Given the description of an element on the screen output the (x, y) to click on. 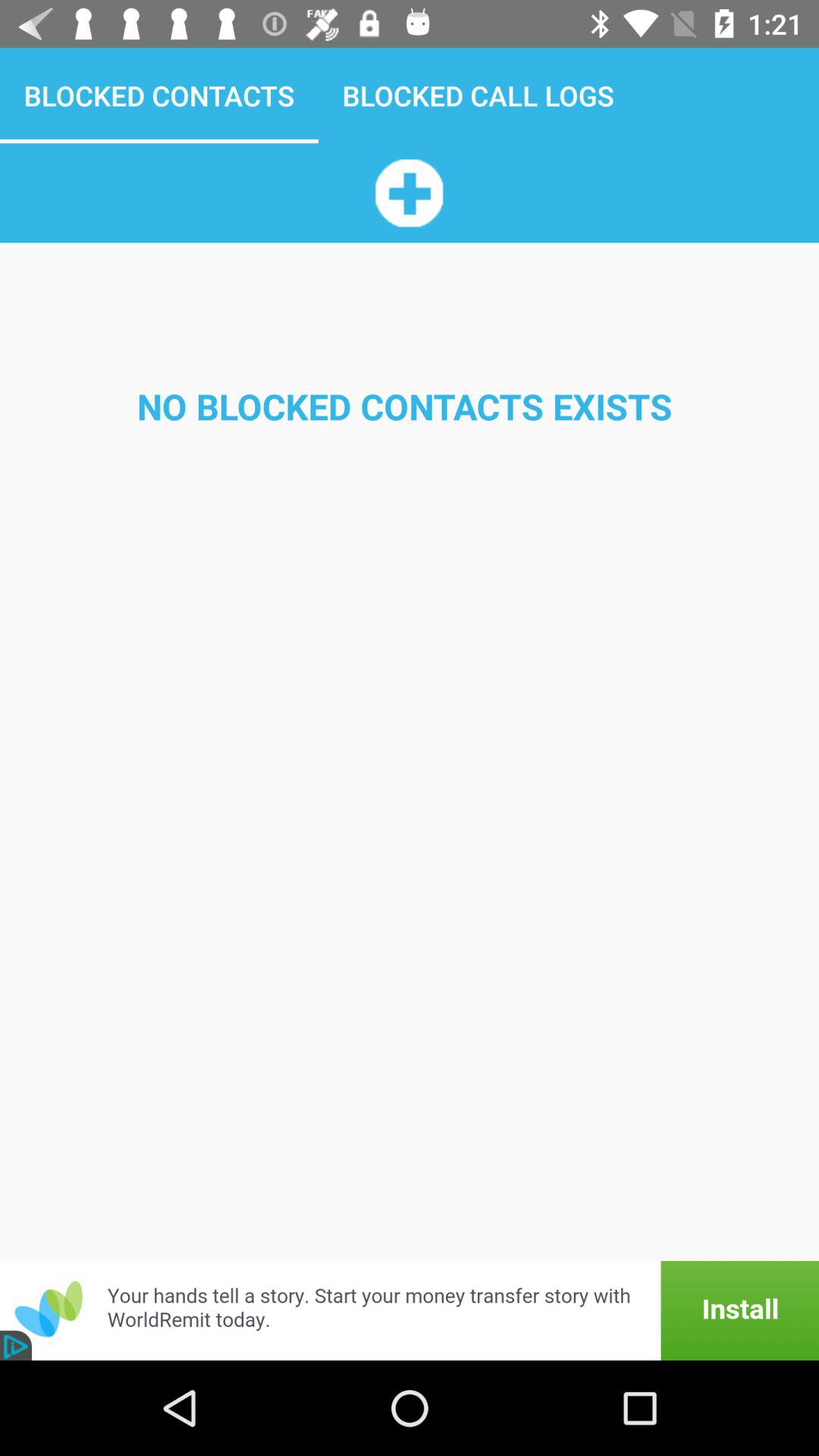
go to app installation (409, 1310)
